Given the description of an element on the screen output the (x, y) to click on. 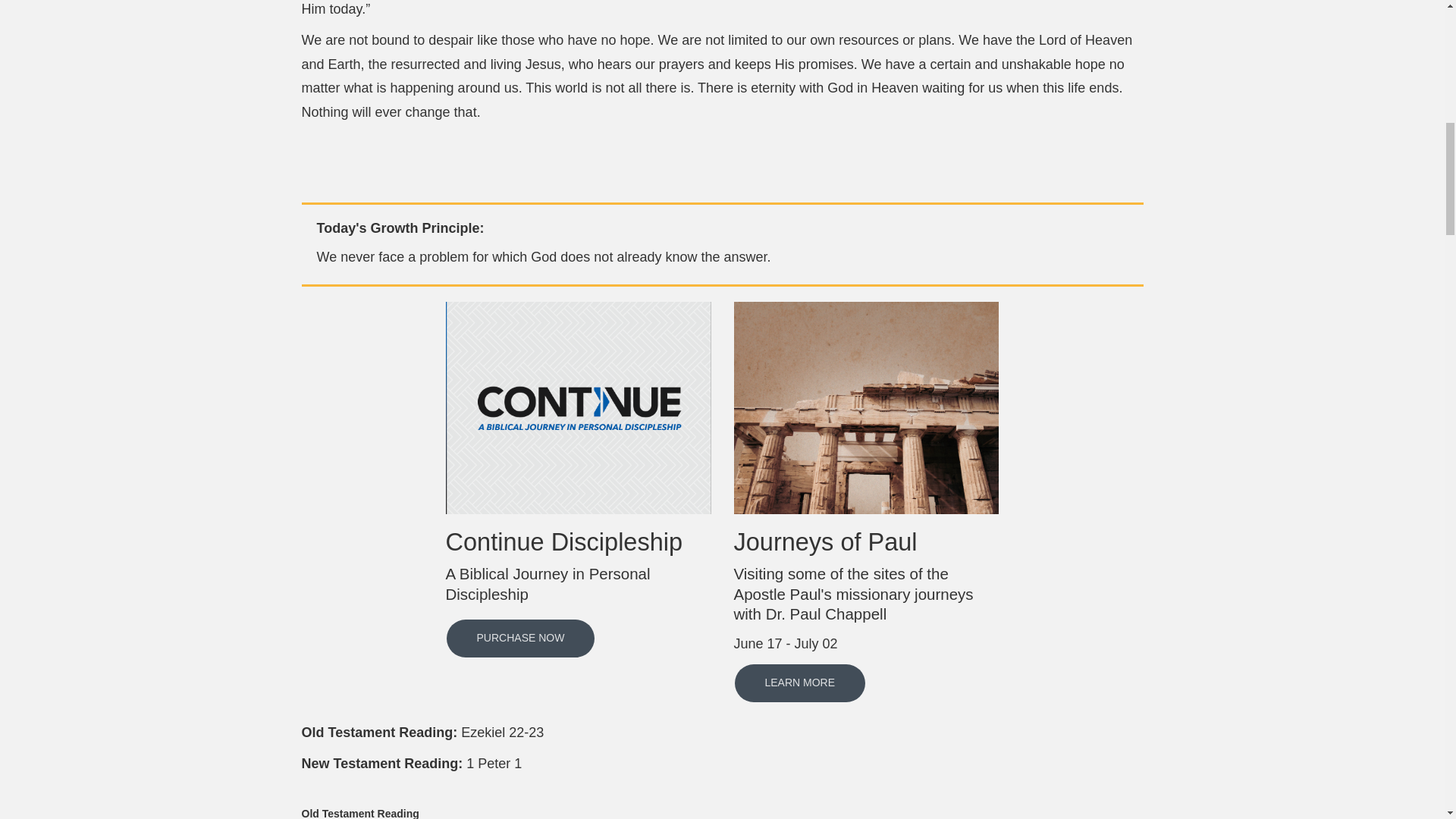
PURCHASE NOW (520, 638)
LEARN MORE (798, 682)
